Given the description of an element on the screen output the (x, y) to click on. 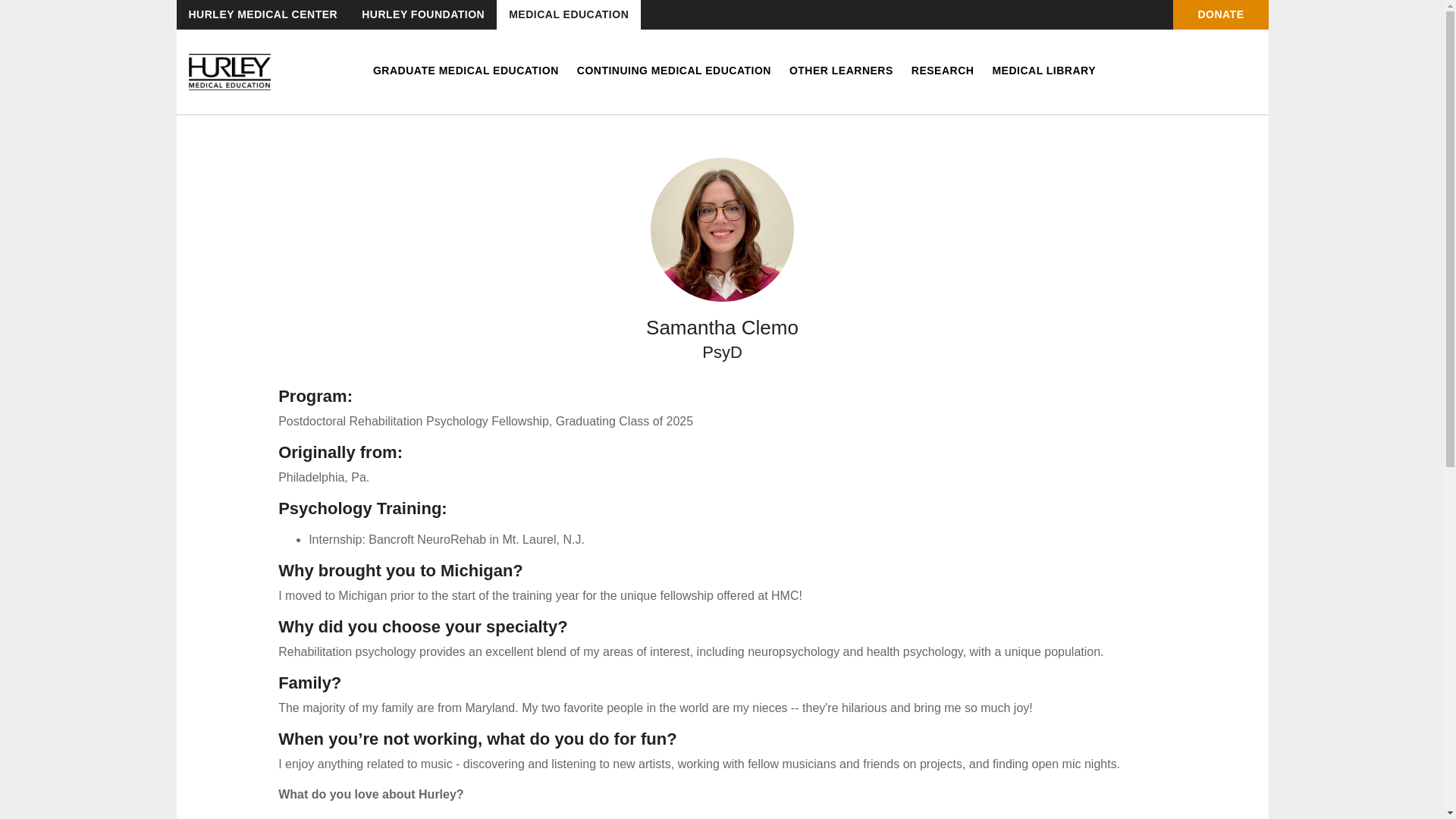
OTHER LEARNERS (841, 70)
DONATE (1220, 14)
CONTINUING MEDICAL EDUCATION (673, 70)
RESEARCH (942, 70)
MEDICAL EDUCATION (568, 14)
GRADUATE MEDICAL EDUCATION (465, 70)
MEDICAL LIBRARY (1043, 70)
HURLEY MEDICAL CENTER (262, 14)
HURLEY FOUNDATION (422, 14)
